Given the description of an element on the screen output the (x, y) to click on. 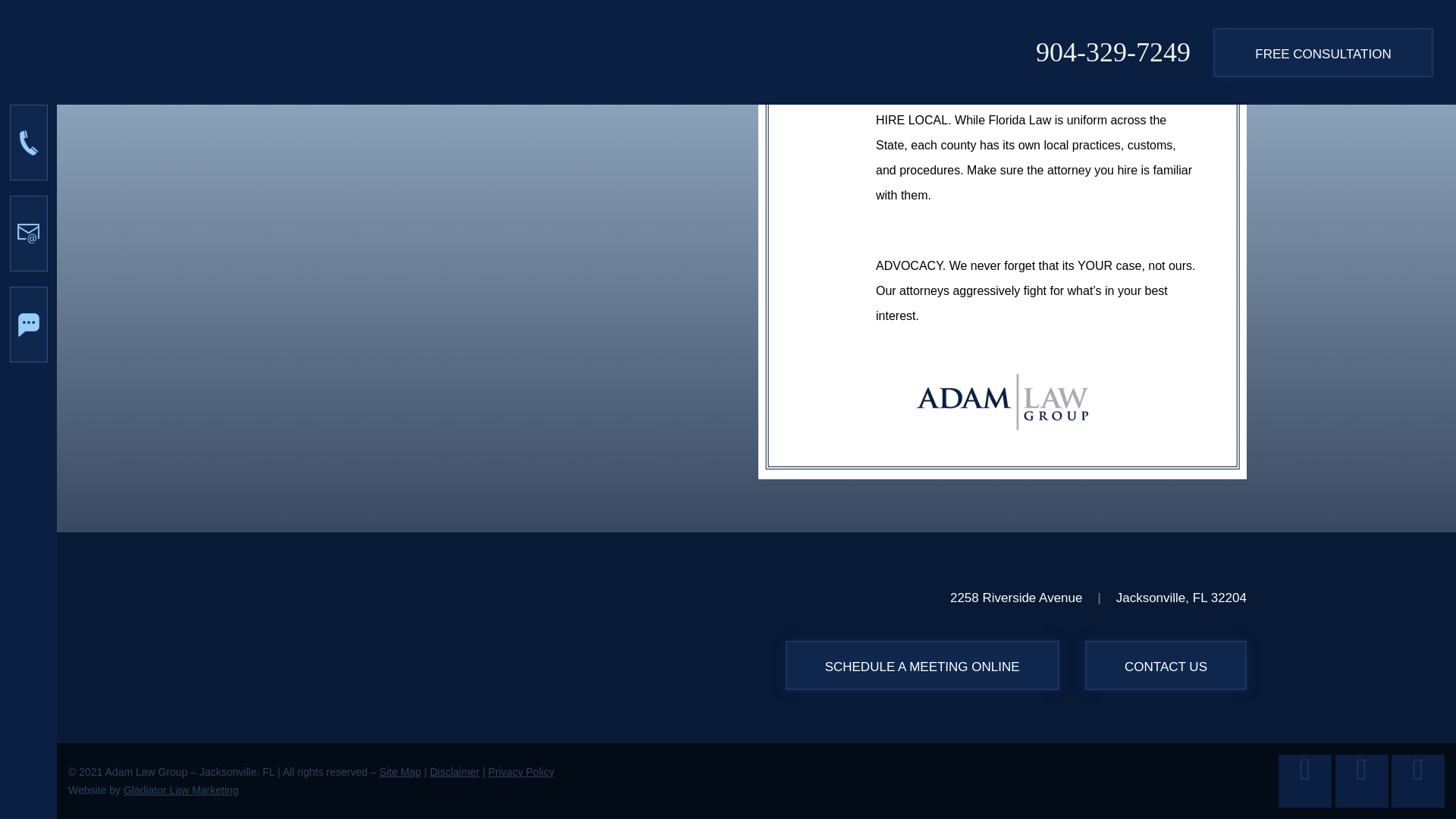
CONTACT US (1165, 665)
Disclaimer (454, 771)
Site Map (399, 771)
SCHEDULE A MEETING ONLINE (922, 665)
Gladiator Law Marketing (180, 789)
Privacy Policy (520, 771)
